Given the description of an element on the screen output the (x, y) to click on. 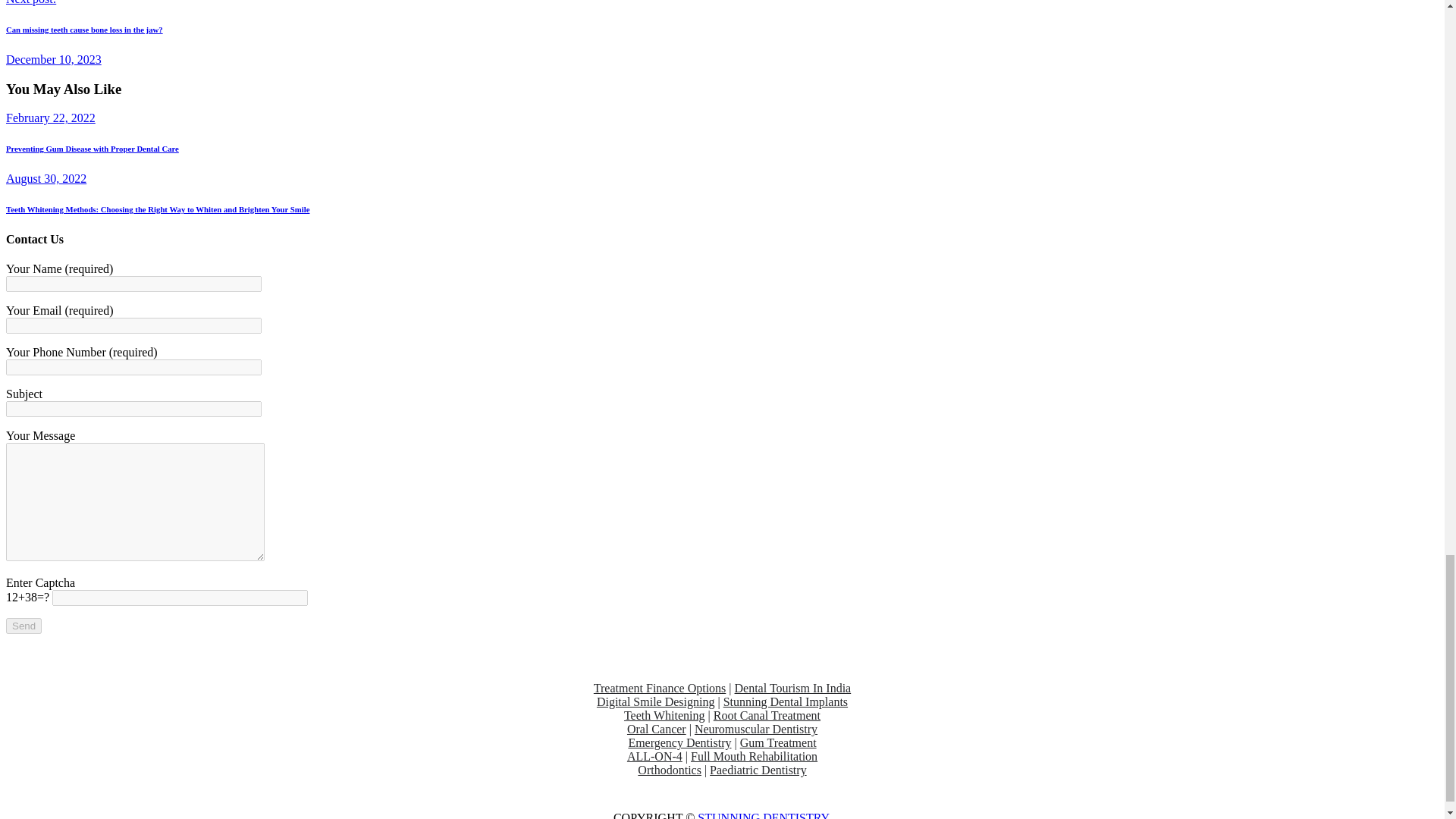
Send (23, 625)
